Given the description of an element on the screen output the (x, y) to click on. 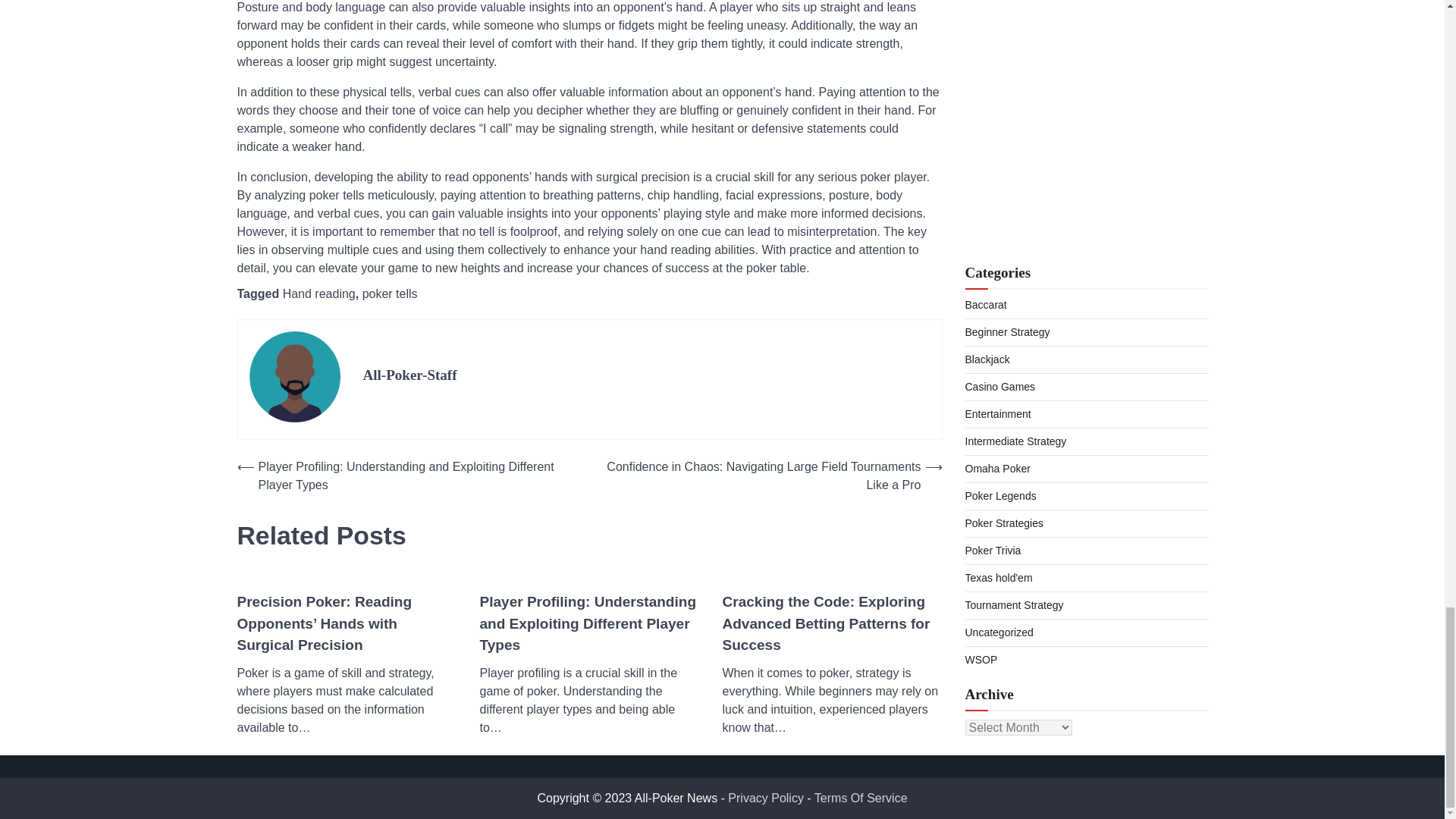
Hand reading (318, 293)
poker tells (389, 293)
